Given the description of an element on the screen output the (x, y) to click on. 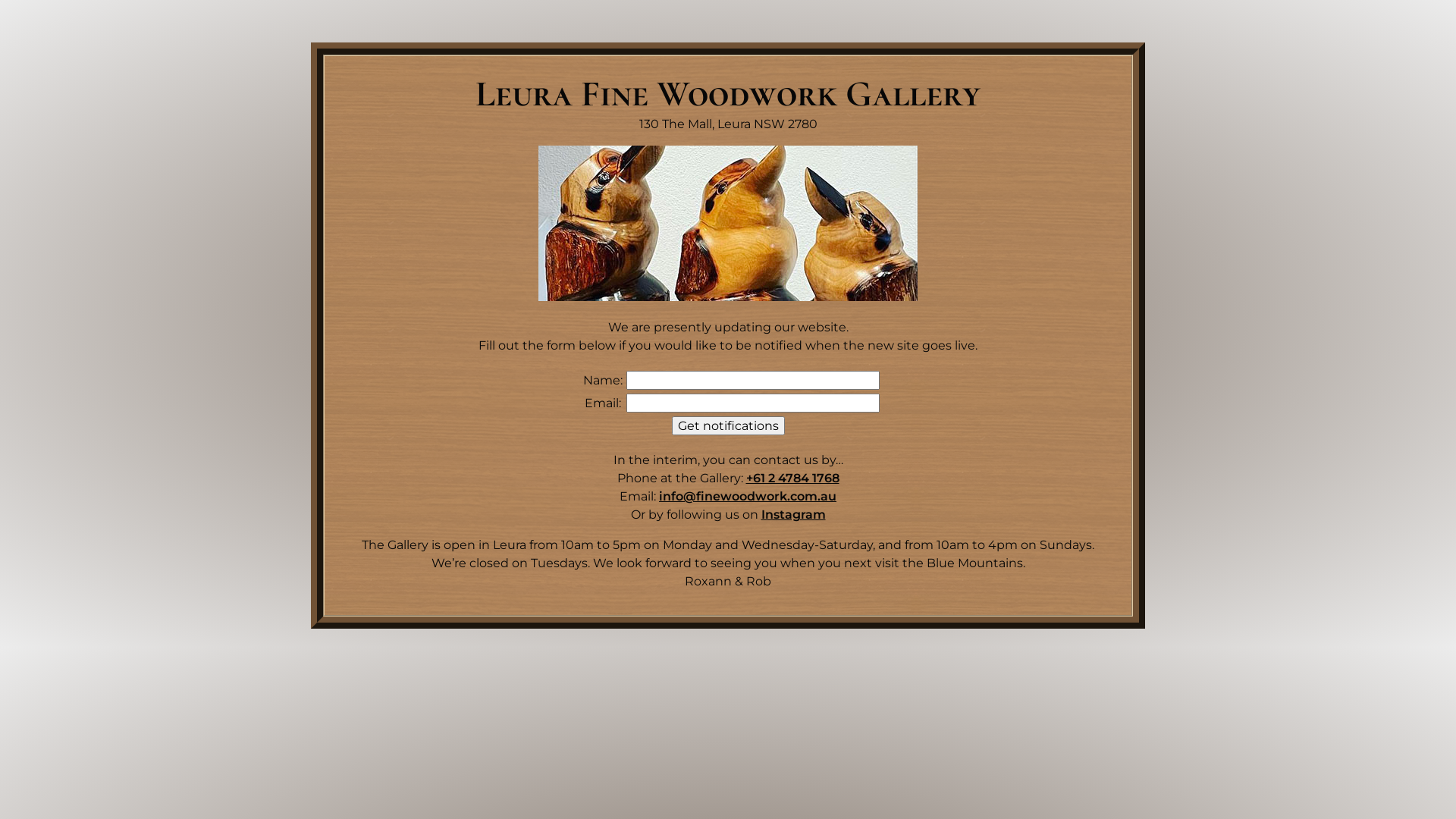
+61 2 4784 1768 Element type: text (792, 477)
Get notifications Element type: text (727, 425)
info@finewoodwork.com.au Element type: text (747, 496)
Instagram Element type: text (793, 514)
